Given the description of an element on the screen output the (x, y) to click on. 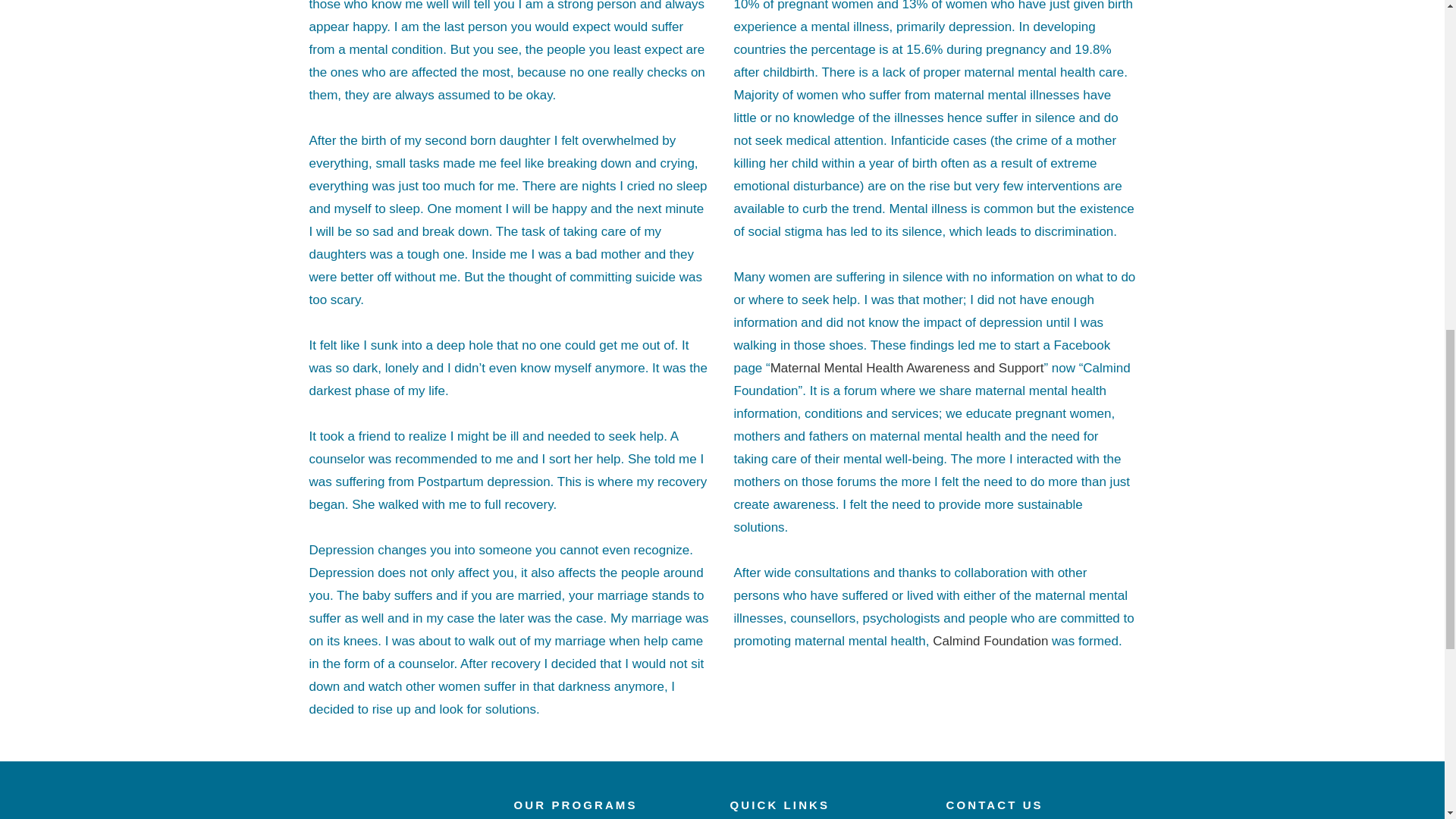
Maternal Mental Health Awareness and Support (906, 368)
Calmind-Foundation-Logo-white (397, 809)
 Calmind Foundation  (989, 640)
